Given the description of an element on the screen output the (x, y) to click on. 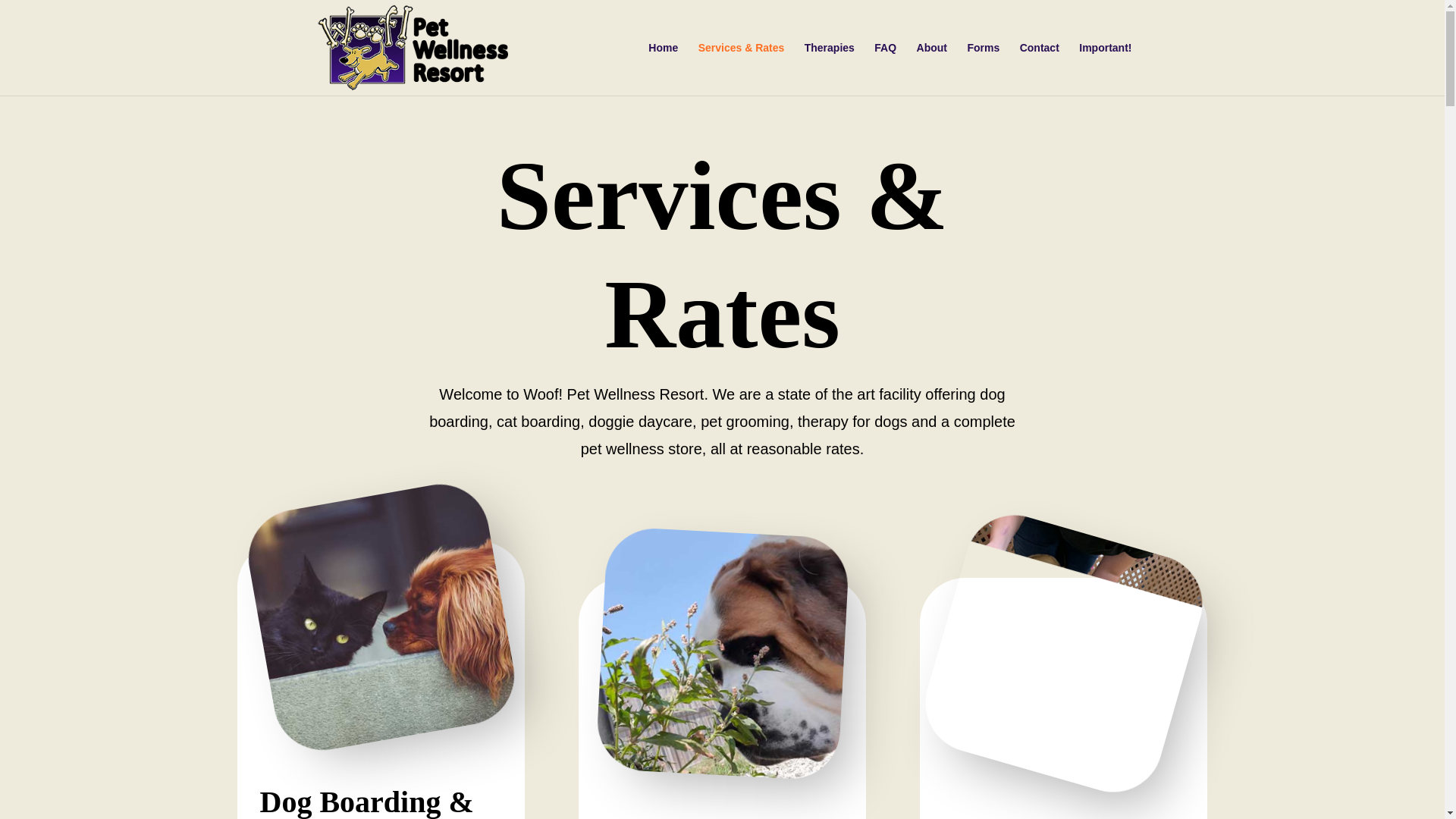
therapuetic-exercise (1035, 624)
Therapies (829, 68)
Important! (1104, 68)
